Given the description of an element on the screen output the (x, y) to click on. 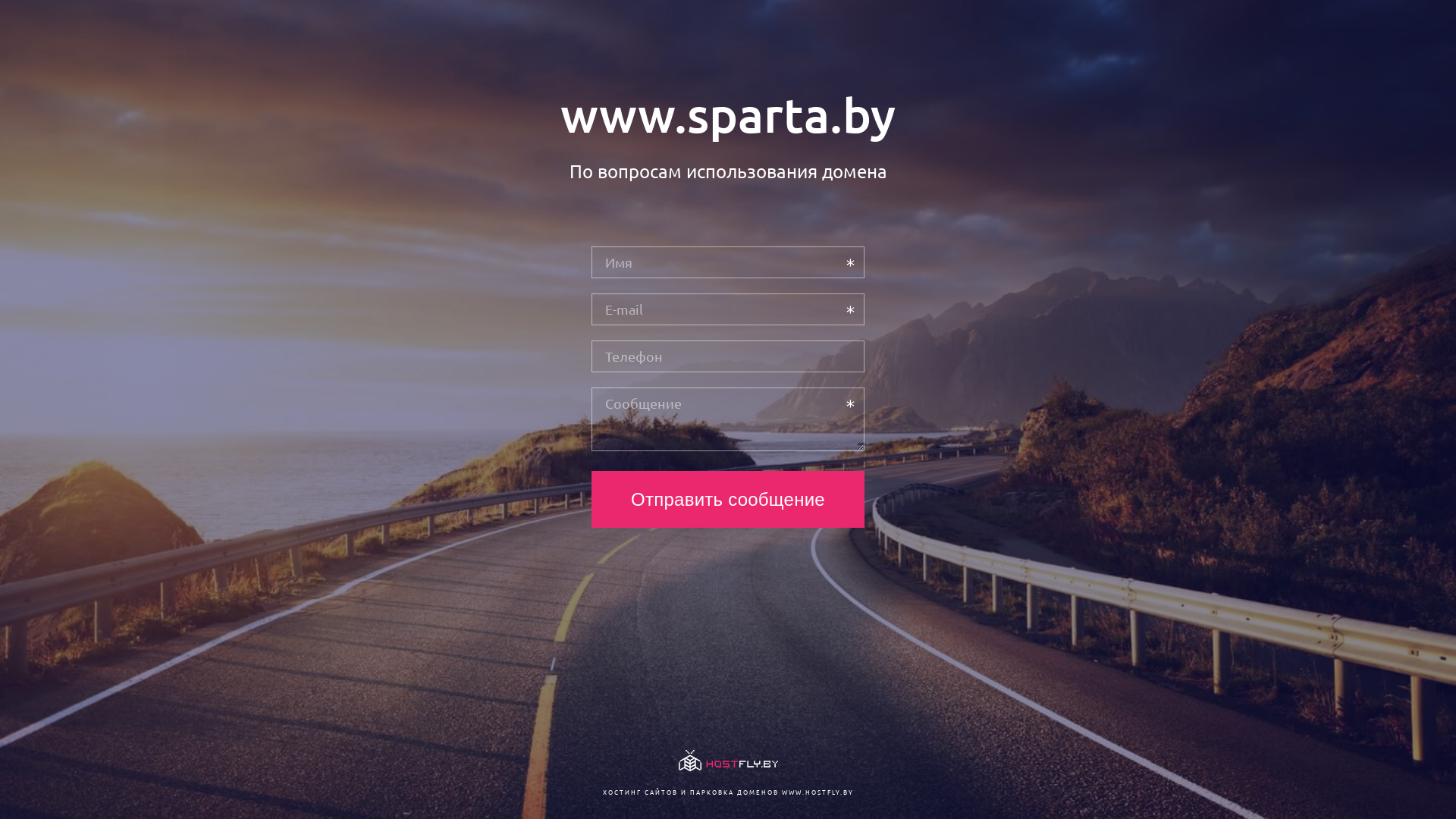
WWW.HOSTFLY.BY Element type: text (817, 791)
